Given the description of an element on the screen output the (x, y) to click on. 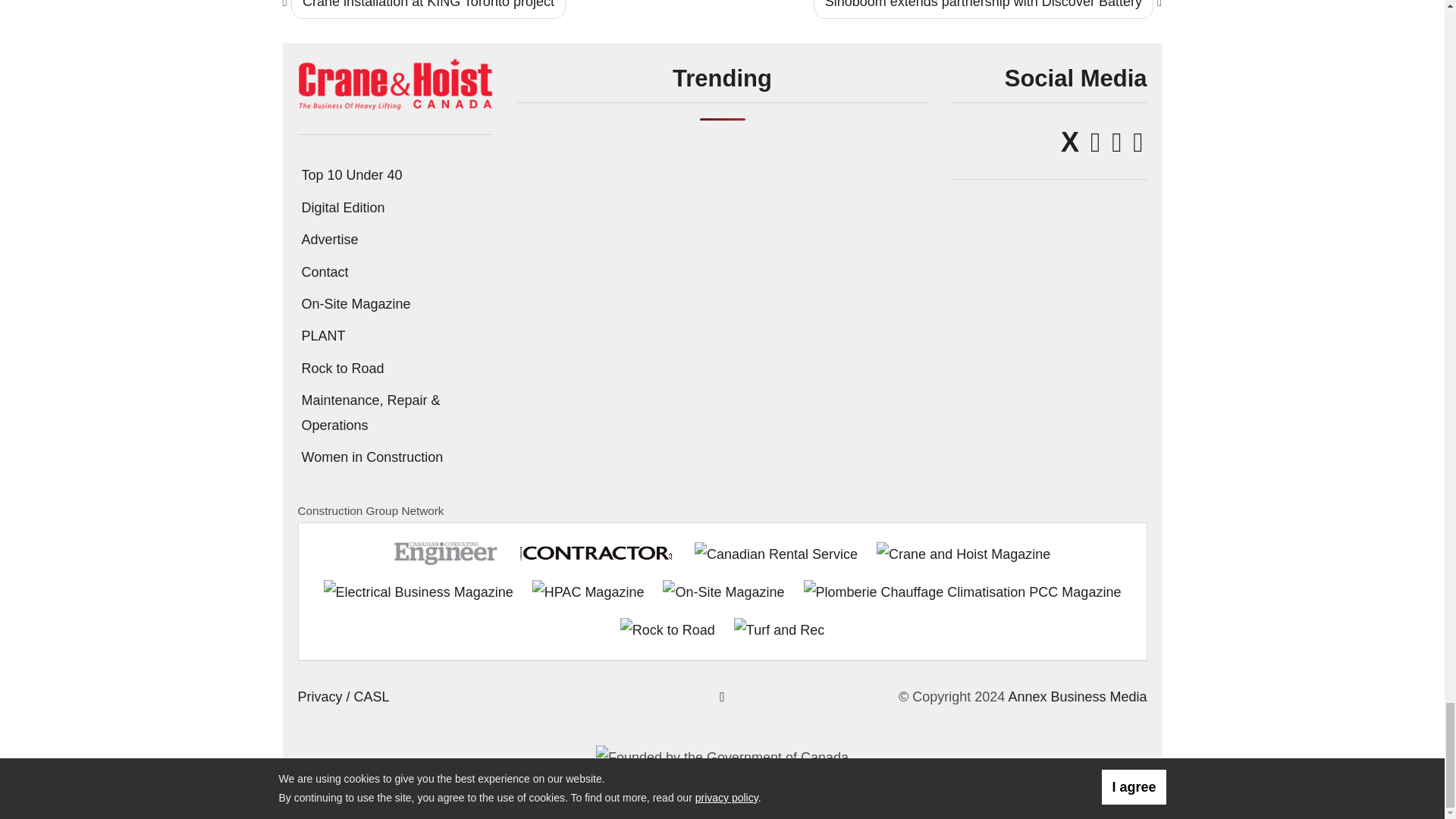
Annex Business Media (1077, 696)
Crane and Hoist Canada (395, 83)
